Given the description of an element on the screen output the (x, y) to click on. 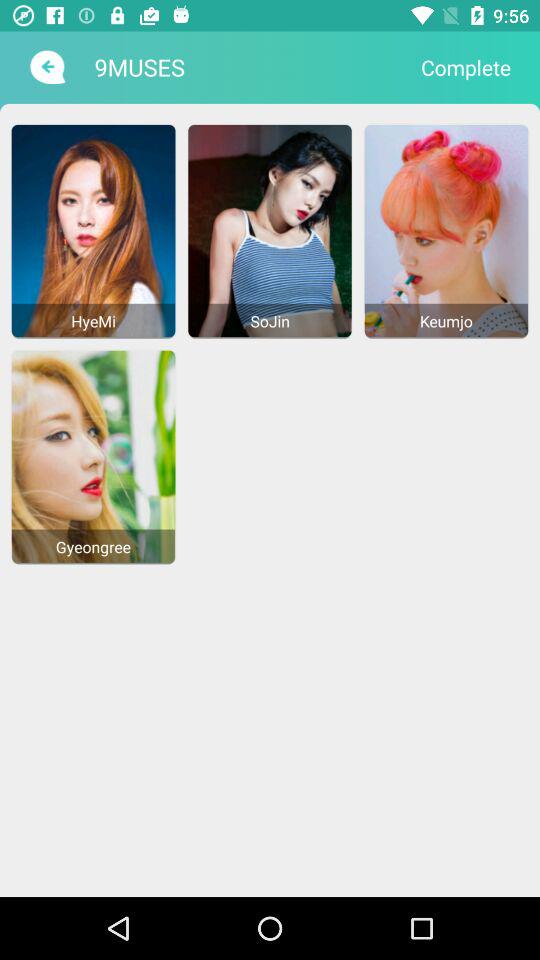
go back (45, 67)
